Given the description of an element on the screen output the (x, y) to click on. 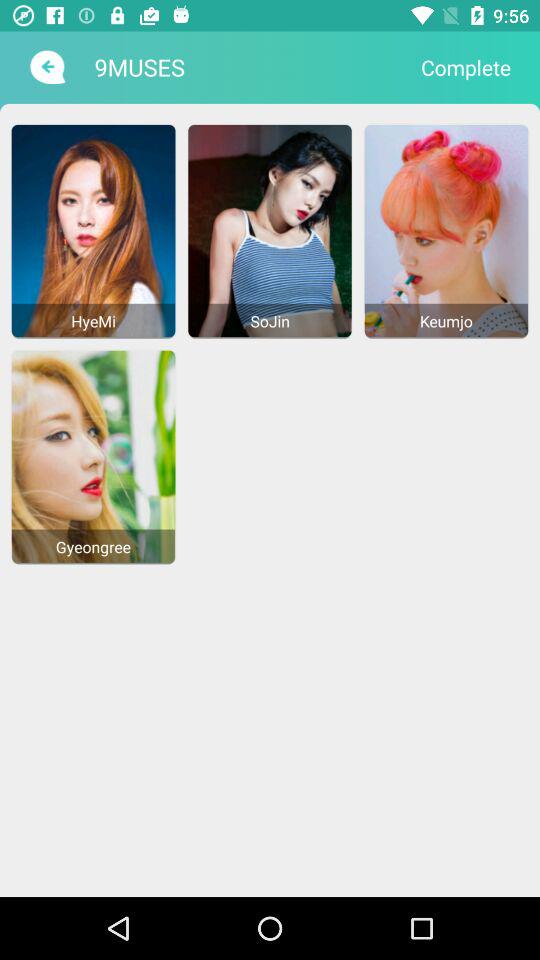
go back (45, 67)
